Given the description of an element on the screen output the (x, y) to click on. 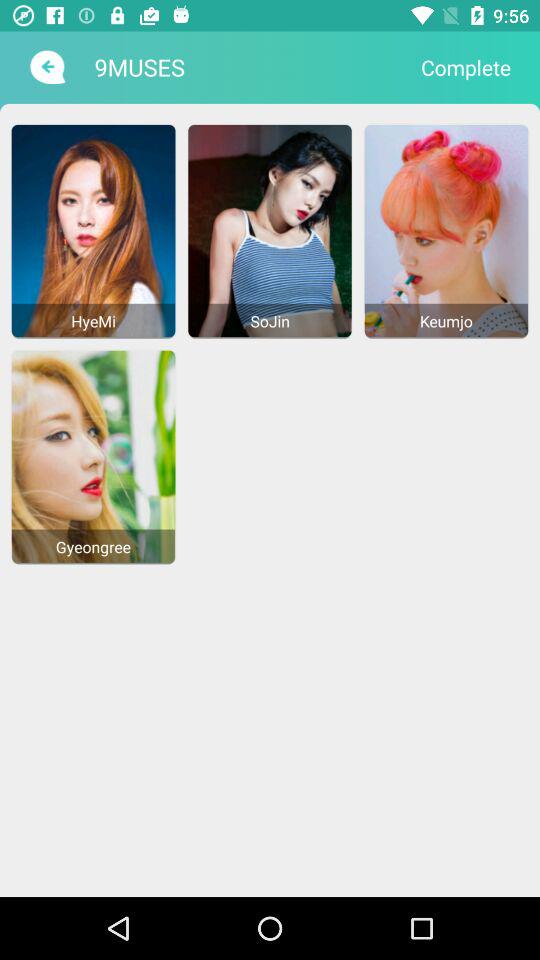
go back (45, 67)
